Given the description of an element on the screen output the (x, y) to click on. 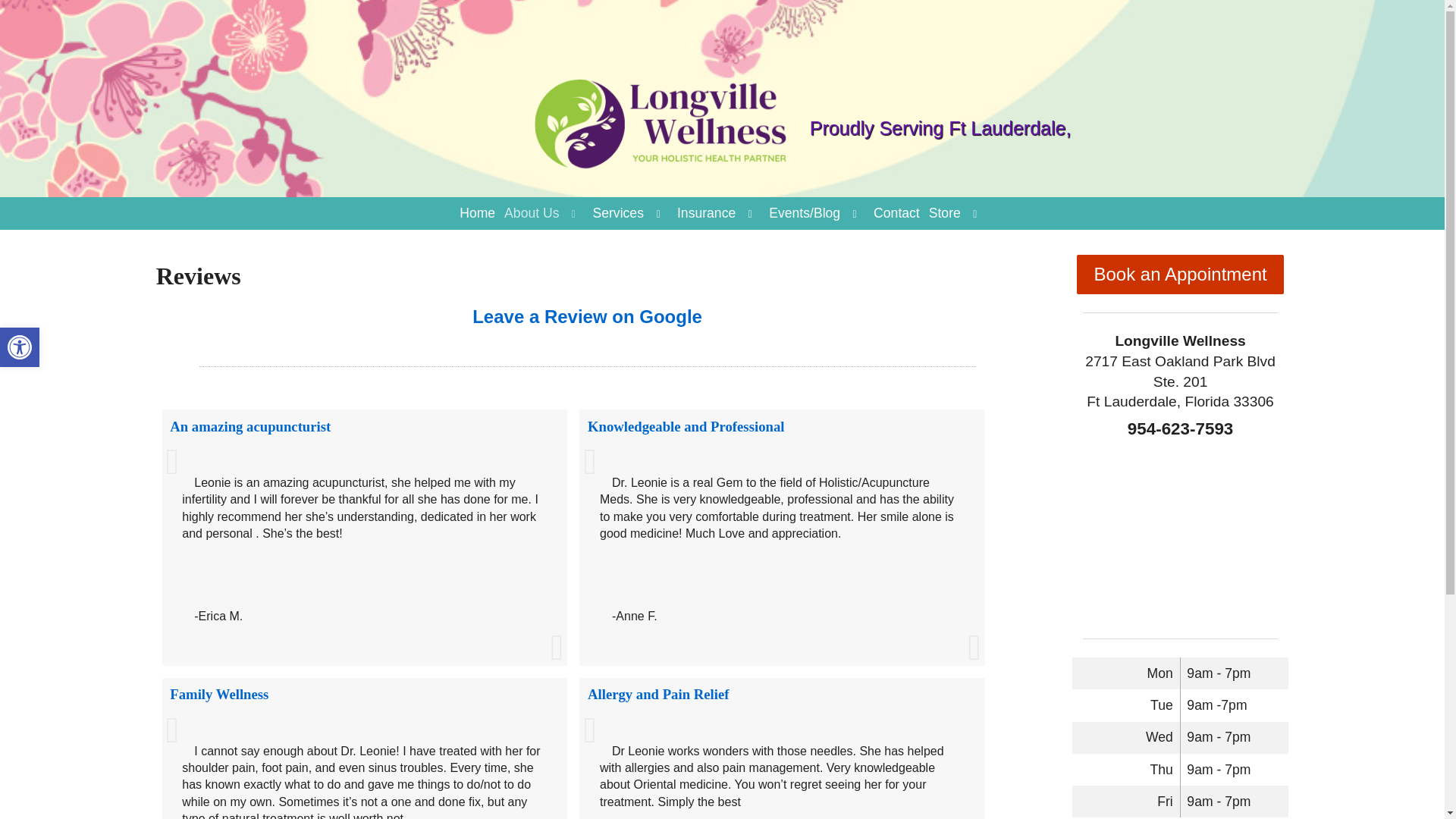
Insurance (705, 213)
About Us (531, 213)
Home (476, 213)
Accessibility Tools (19, 346)
Services (617, 213)
Read (658, 693)
Accessibility Tools (19, 346)
Read (250, 426)
Read (686, 426)
Google Map of Business (19, 346)
Read (1179, 533)
